Given the description of an element on the screen output the (x, y) to click on. 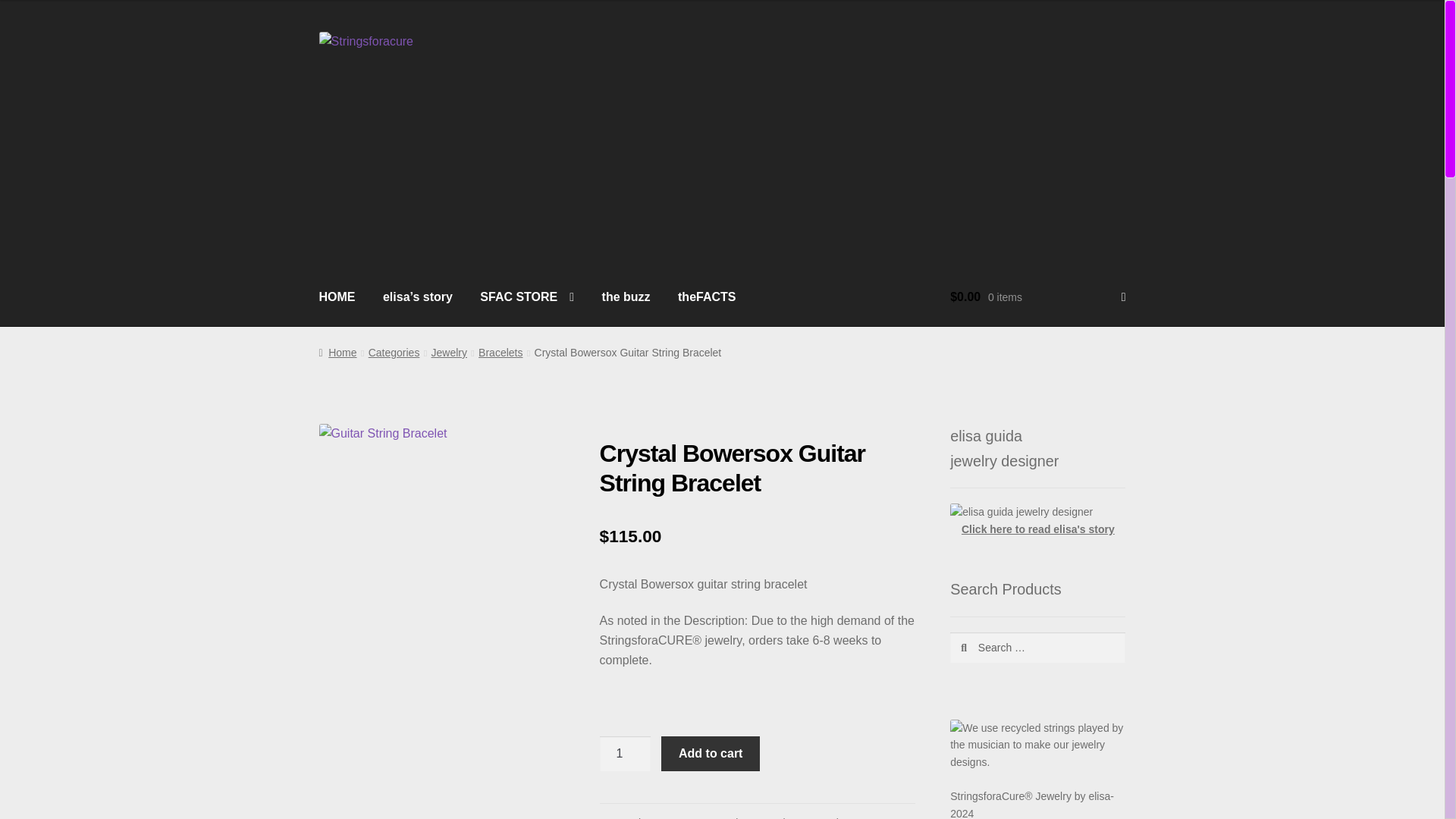
the buzz (625, 296)
Bracelets (500, 352)
SFAC STORE (526, 296)
Home (337, 352)
Jewelry (448, 352)
GSB-ME030522 (441, 546)
HOME (337, 296)
Categories (394, 352)
Bracelets (777, 817)
StringsforaCURE Home (337, 296)
1 (624, 753)
theFACTS (706, 296)
